Given the description of an element on the screen output the (x, y) to click on. 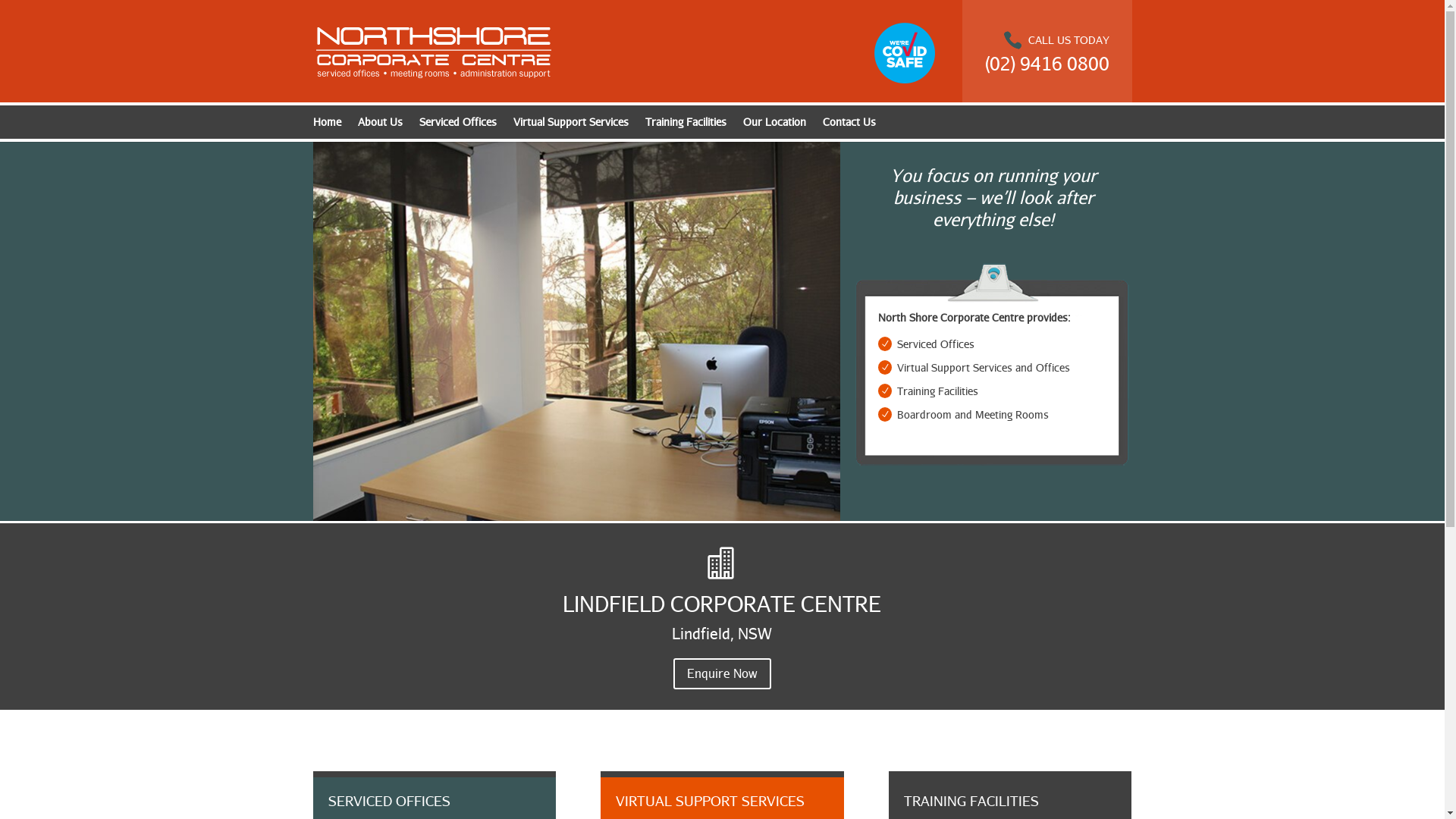
Enquire Now Element type: text (722, 673)
Our Location Element type: text (774, 125)
Virtual Support Services Element type: text (569, 125)
Serviced Offices Element type: text (456, 125)
Home Element type: text (326, 125)
About Us Element type: text (379, 125)
LINDFIELD CORPORATE CENTRE Element type: text (721, 603)
Contact Us Element type: text (848, 125)
Training Facilities Element type: text (684, 125)
